Given the description of an element on the screen output the (x, y) to click on. 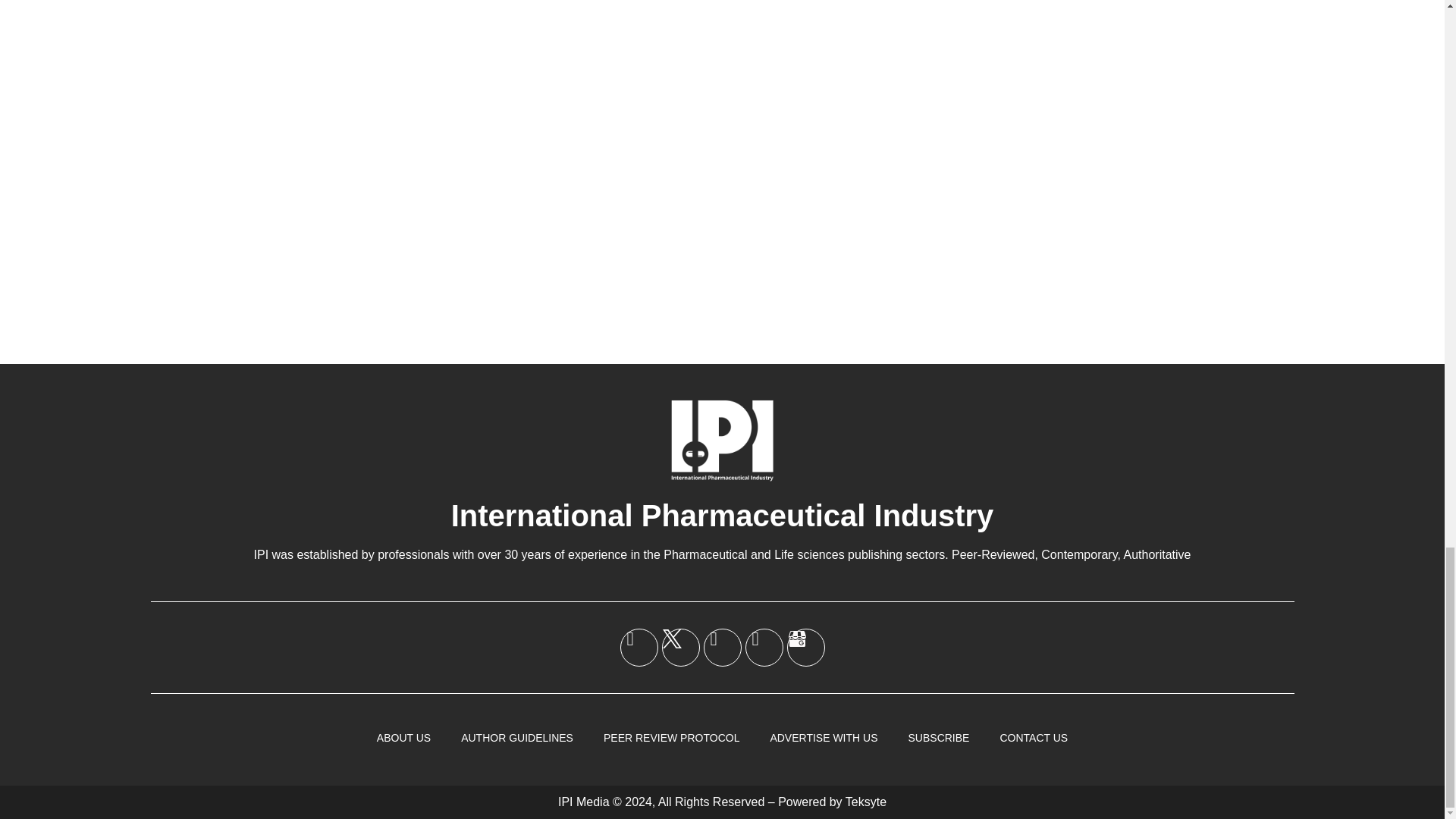
Web design services (865, 801)
logo-ipi-w.png (721, 439)
